Given the description of an element on the screen output the (x, y) to click on. 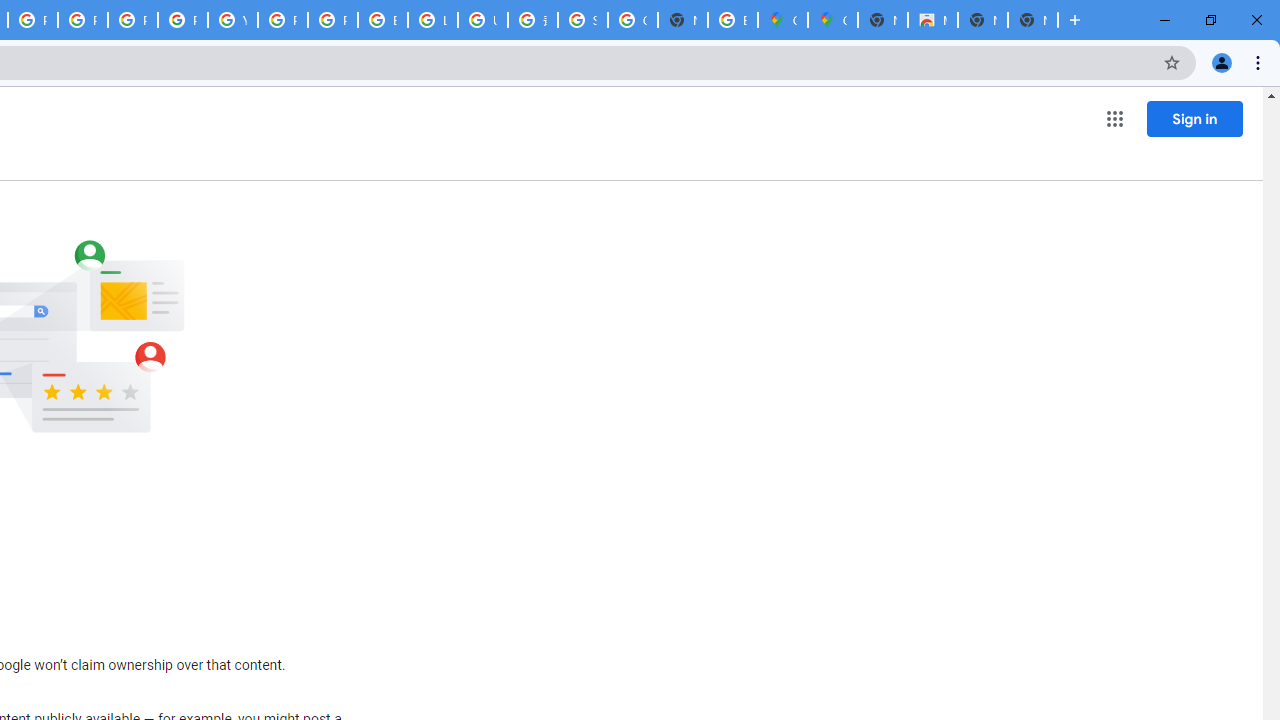
Browse Chrome as a guest - Computer - Google Chrome Help (383, 20)
Google Maps (782, 20)
YouTube (232, 20)
Google Maps (832, 20)
Privacy Help Center - Policies Help (82, 20)
